Given the description of an element on the screen output the (x, y) to click on. 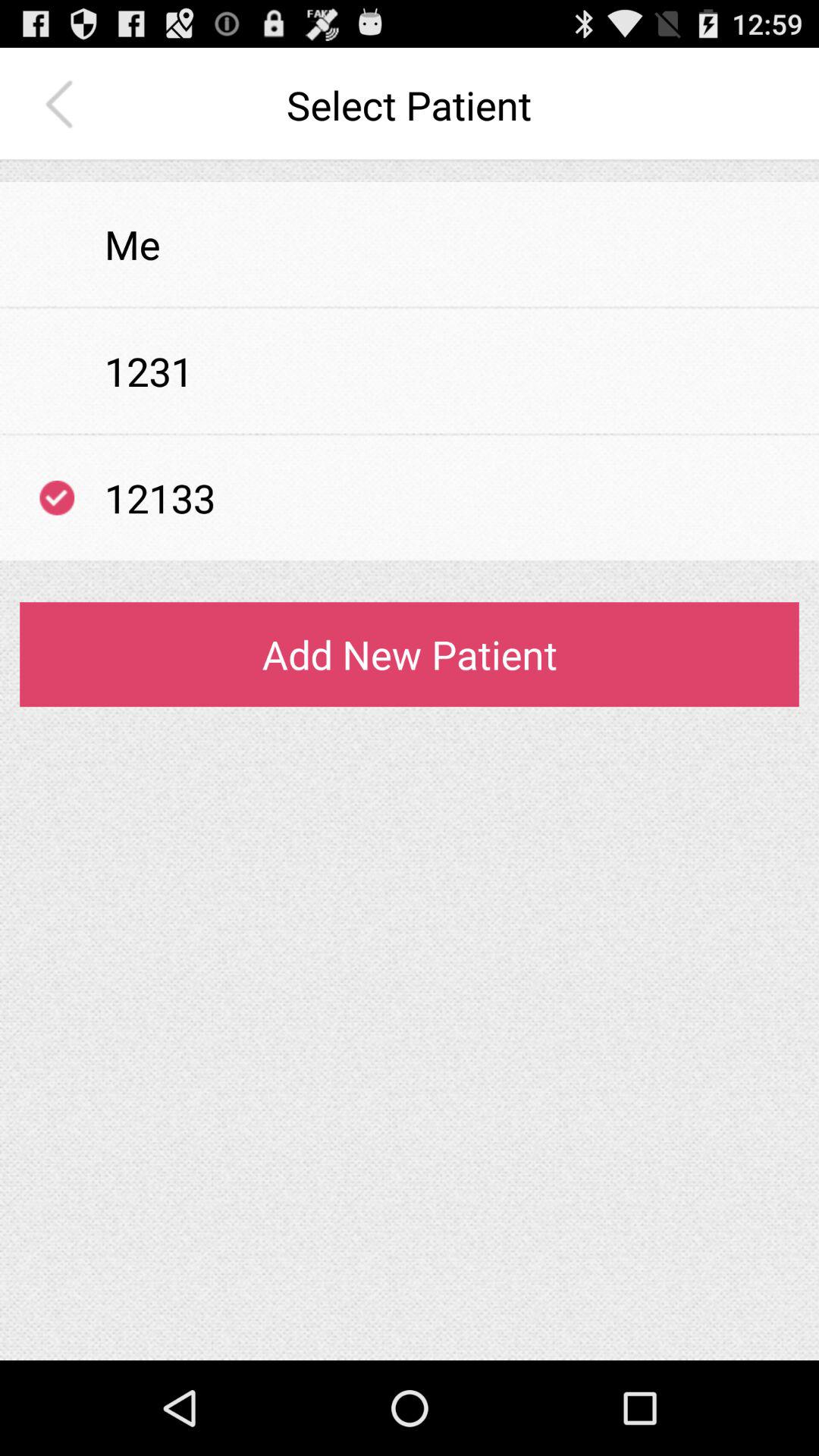
open icon to the left of the select patient app (63, 104)
